Given the description of an element on the screen output the (x, y) to click on. 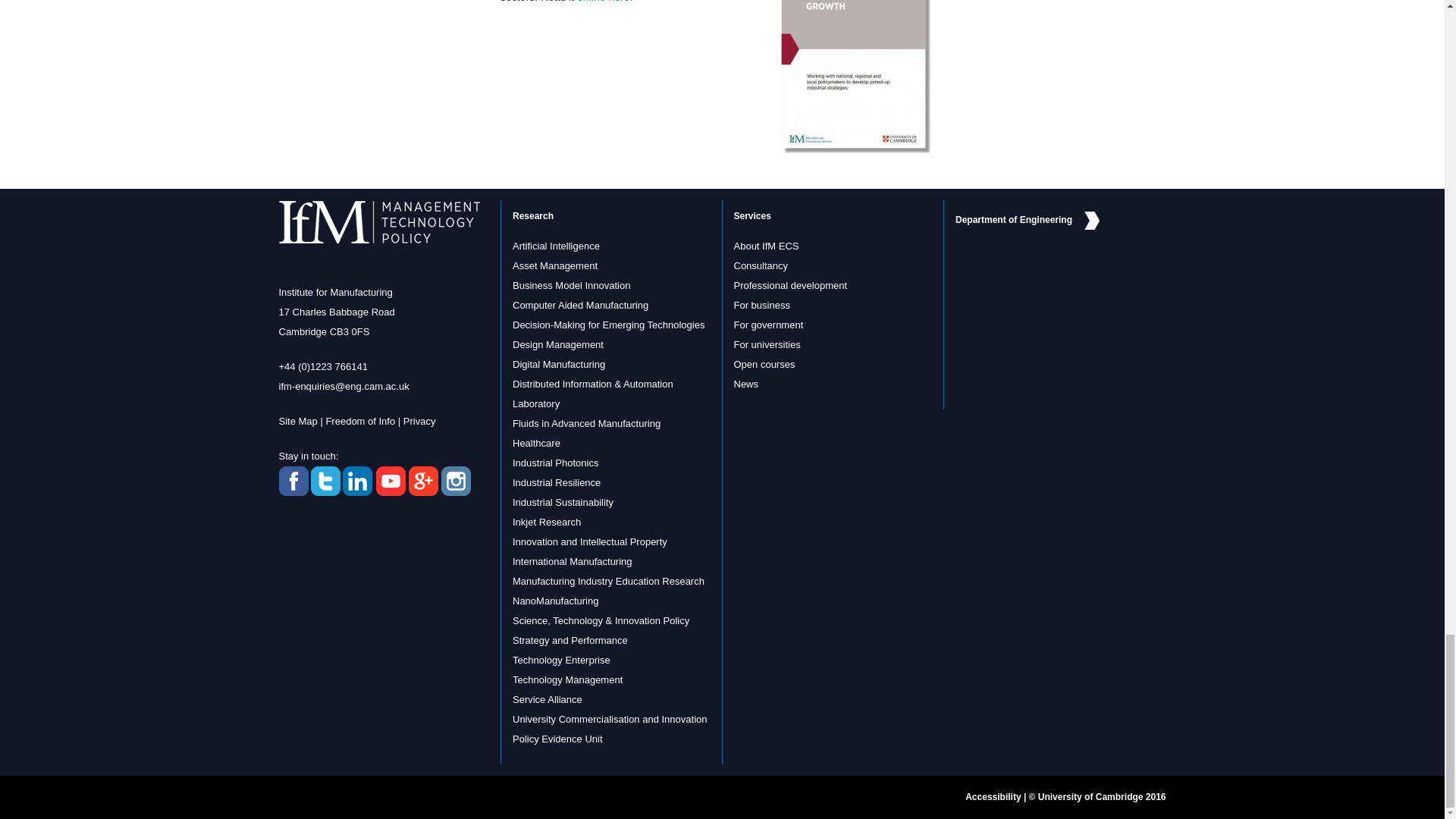
Distributed Information and Automation Laboratory (592, 393)
Fluids in Advanced Manufacturing (586, 423)
Decision-Making for Emerging Technologies (608, 324)
Computer Aided Manufacturing (579, 305)
Supply Chain AI Lab (555, 245)
Design Management (558, 344)
Asset Management (554, 265)
Digital Manufacturing (558, 364)
